Given the description of an element on the screen output the (x, y) to click on. 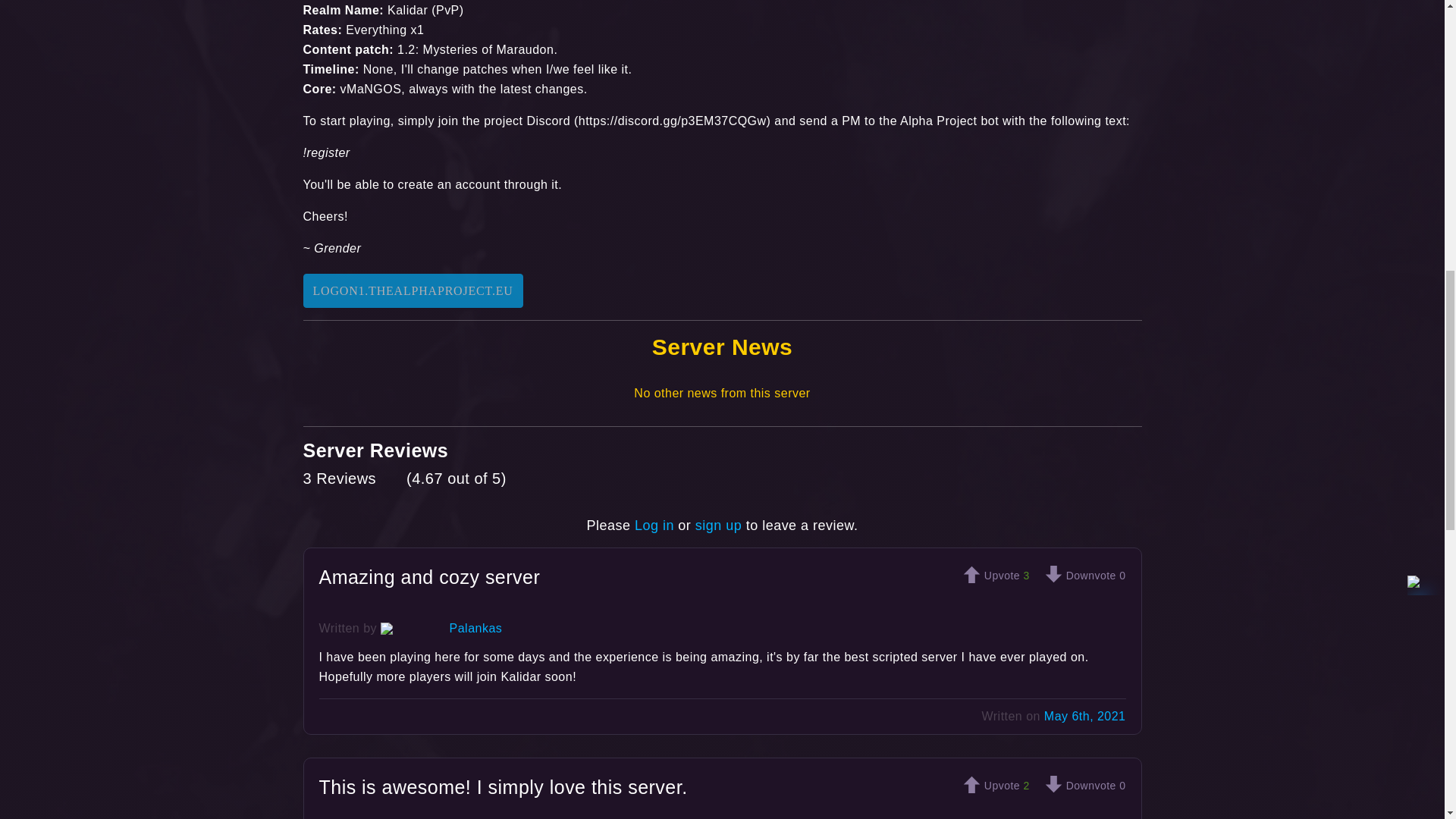
LOGON1.THEALPHAPROJECT.EU (412, 290)
Log in (654, 525)
sign up (718, 525)
Palankas (475, 627)
